Given the description of an element on the screen output the (x, y) to click on. 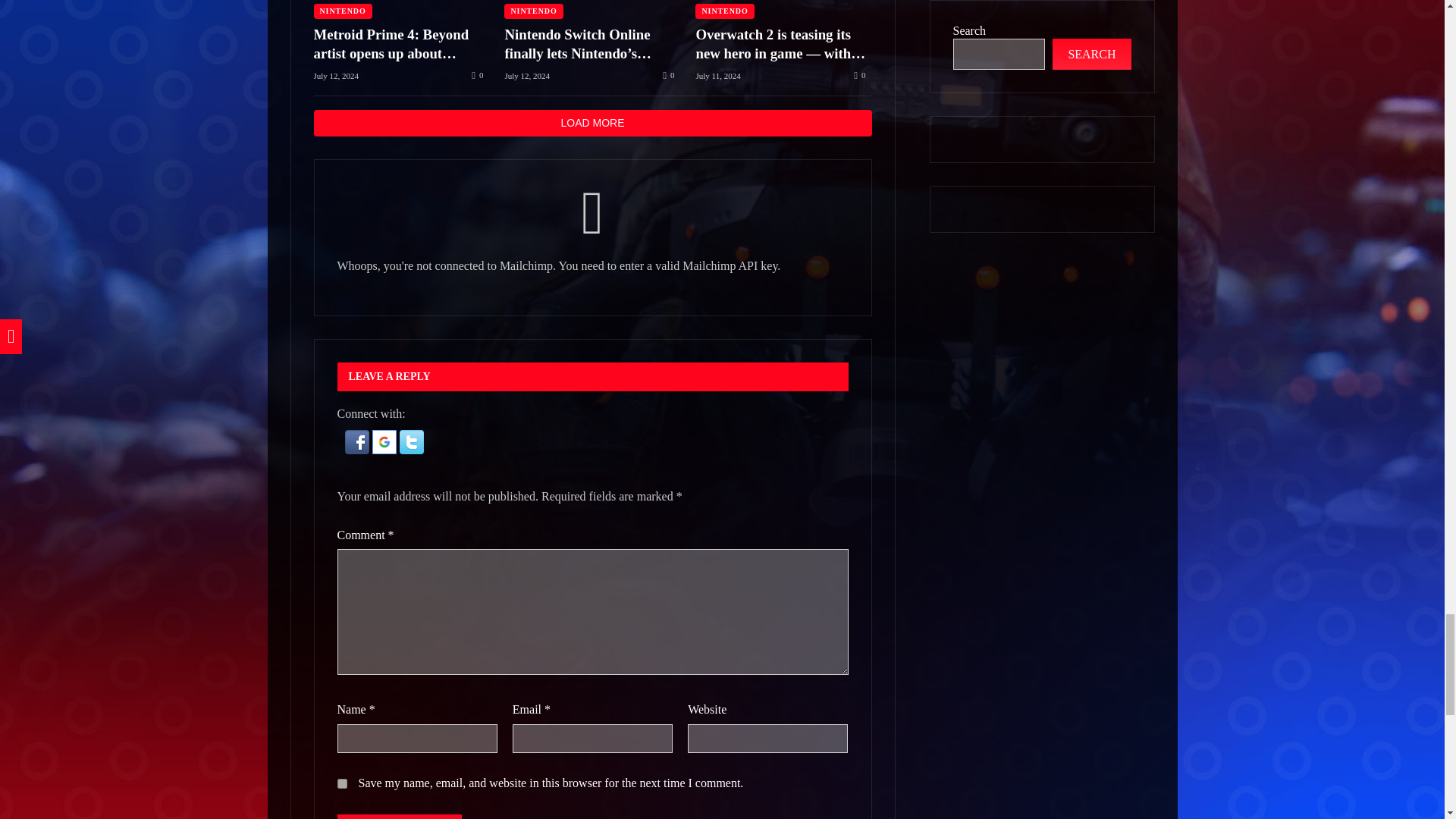
Post Comment (398, 816)
yes (341, 783)
